Given the description of an element on the screen output the (x, y) to click on. 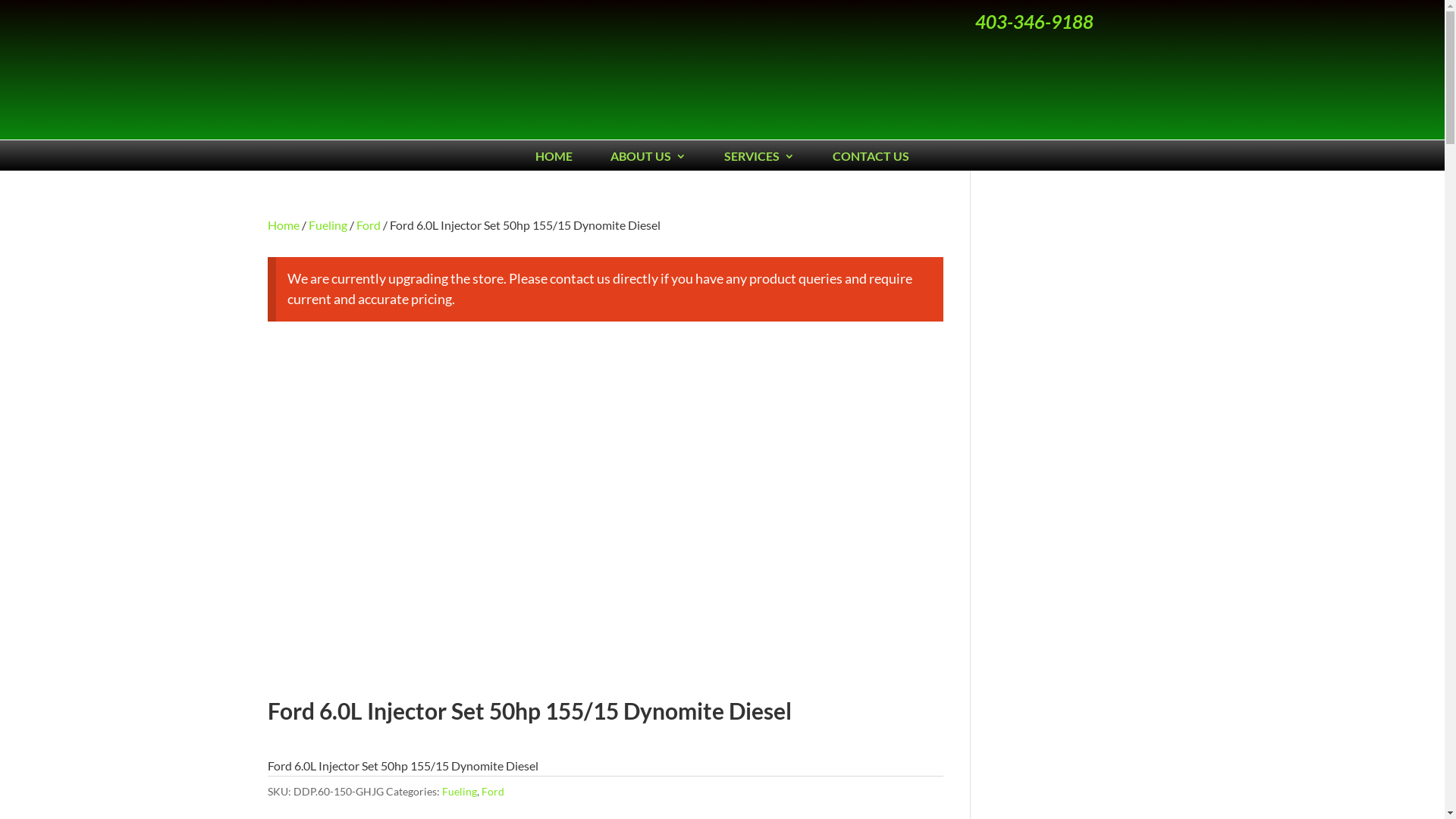
Ford Element type: text (491, 790)
Ford Element type: text (368, 224)
403-346-9188 Element type: text (1034, 21)
Home Element type: text (282, 224)
Fueling Element type: text (326, 224)
CONTACT US Element type: text (870, 158)
SERVICES Element type: text (759, 158)
HOME Element type: text (553, 158)
ABOUT US Element type: text (648, 158)
Fueling Element type: text (458, 790)
